Given the description of an element on the screen output the (x, y) to click on. 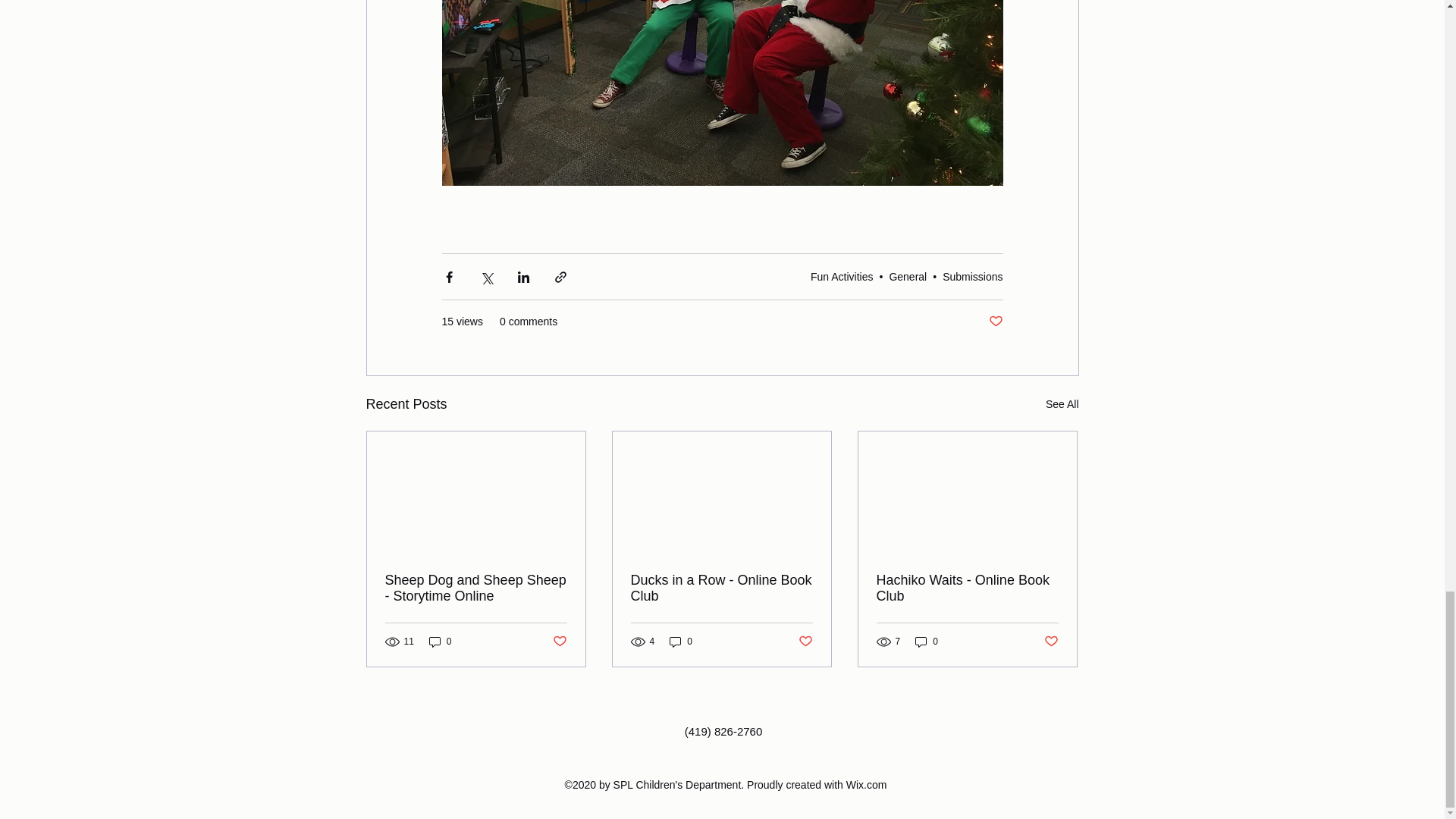
Fun Activities (841, 275)
See All (1061, 404)
Submissions (972, 275)
Post not marked as liked (995, 321)
General (907, 275)
